Given the description of an element on the screen output the (x, y) to click on. 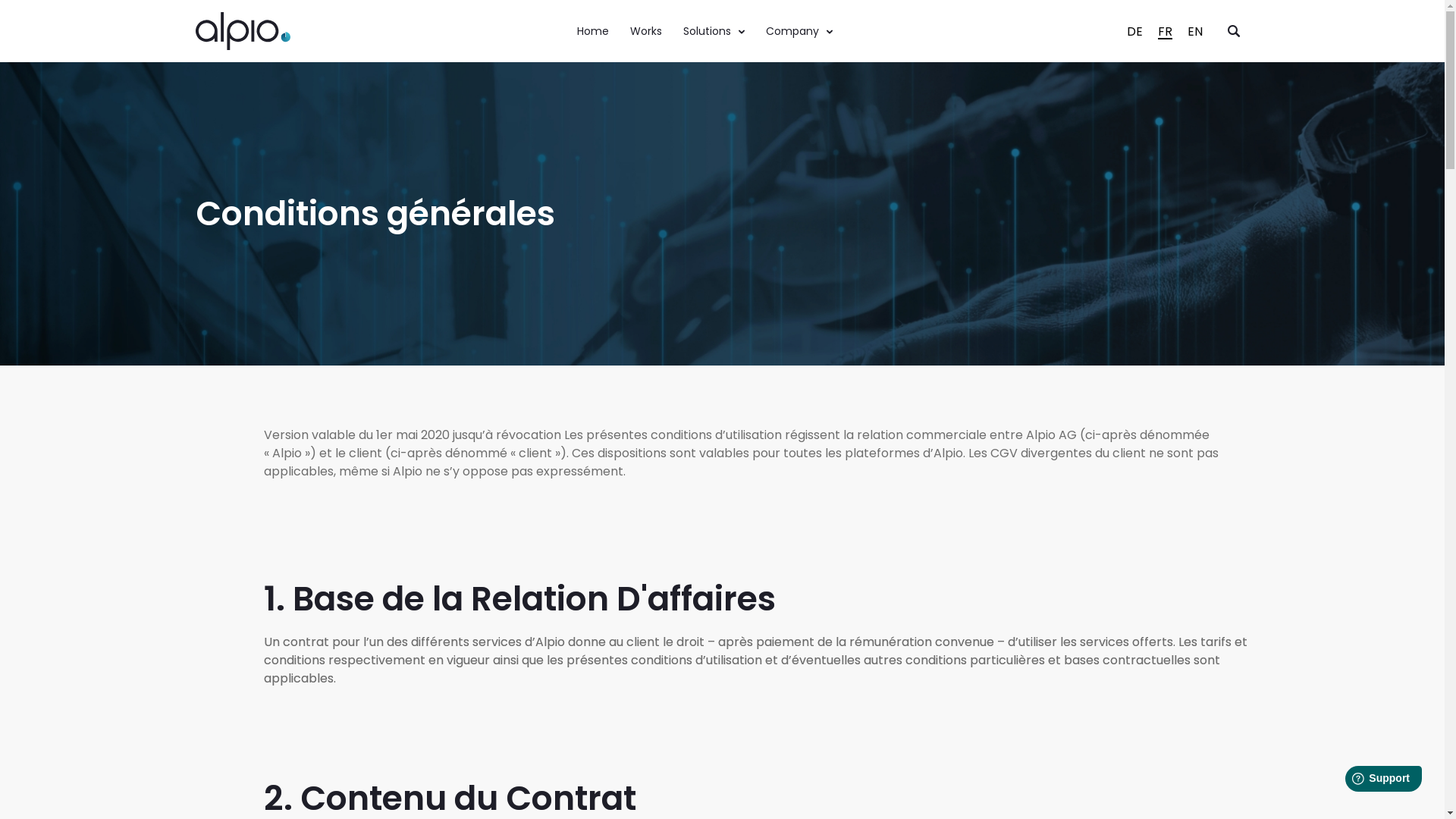
EN Element type: text (1194, 31)
Solutions Element type: text (713, 30)
Works Element type: text (645, 30)
FR Element type: text (1164, 31)
DE Element type: text (1134, 31)
Home Element type: text (592, 30)
Company Element type: text (798, 30)
